Given the description of an element on the screen output the (x, y) to click on. 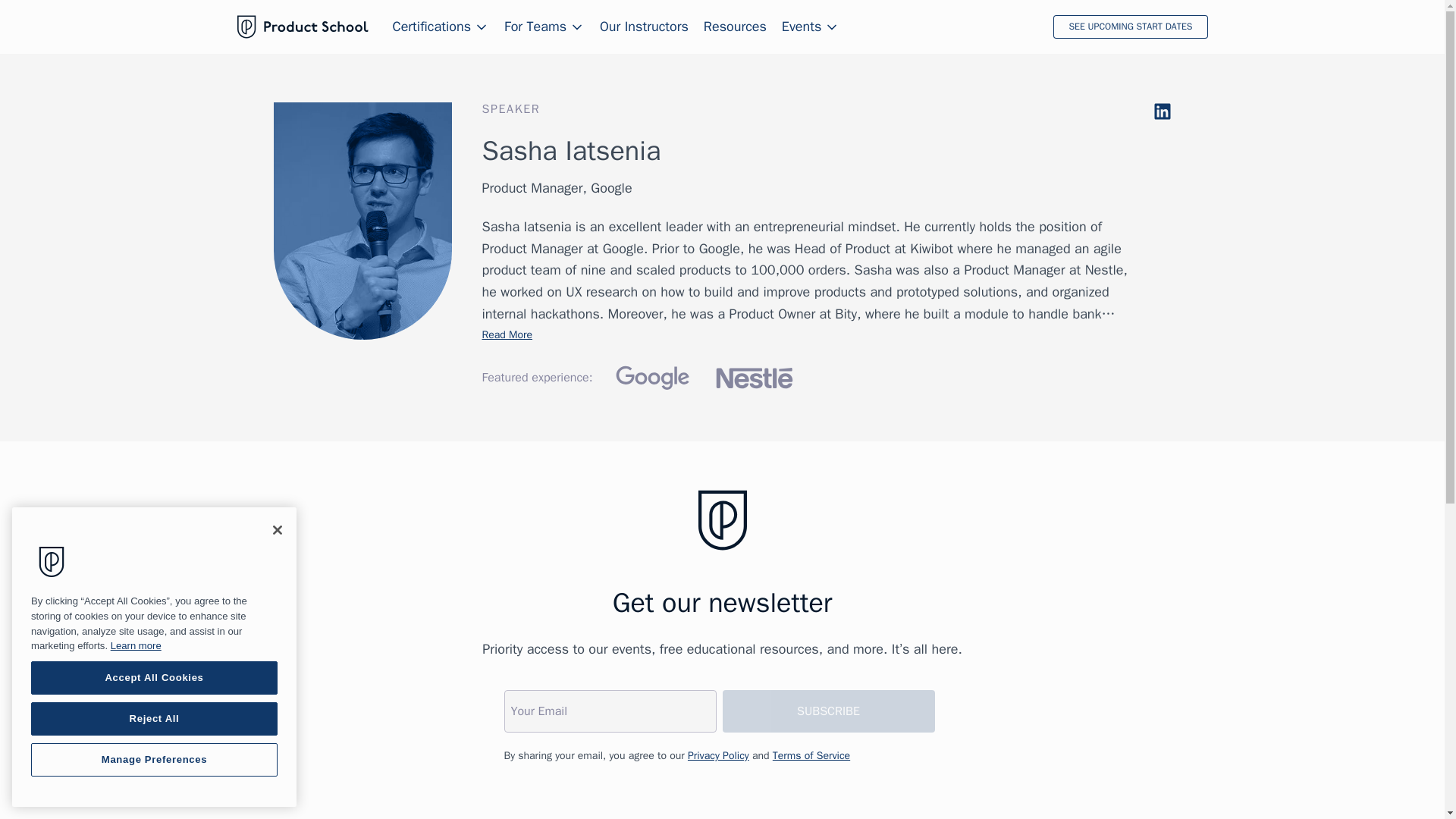
Resources (735, 27)
Certifications (441, 27)
Privacy Policy (718, 755)
SEE UPCOMING START DATES (1129, 26)
Our Instructors (643, 27)
Privacy Policy (718, 755)
Read More (506, 334)
Read More (506, 334)
Terms of Service (811, 755)
Terms of Service (811, 755)
SUBSCRIBE (828, 711)
Company Logo (51, 561)
For Teams (544, 27)
Events (810, 27)
 See Upcoming Start Dates (1129, 26)
